Given the description of an element on the screen output the (x, y) to click on. 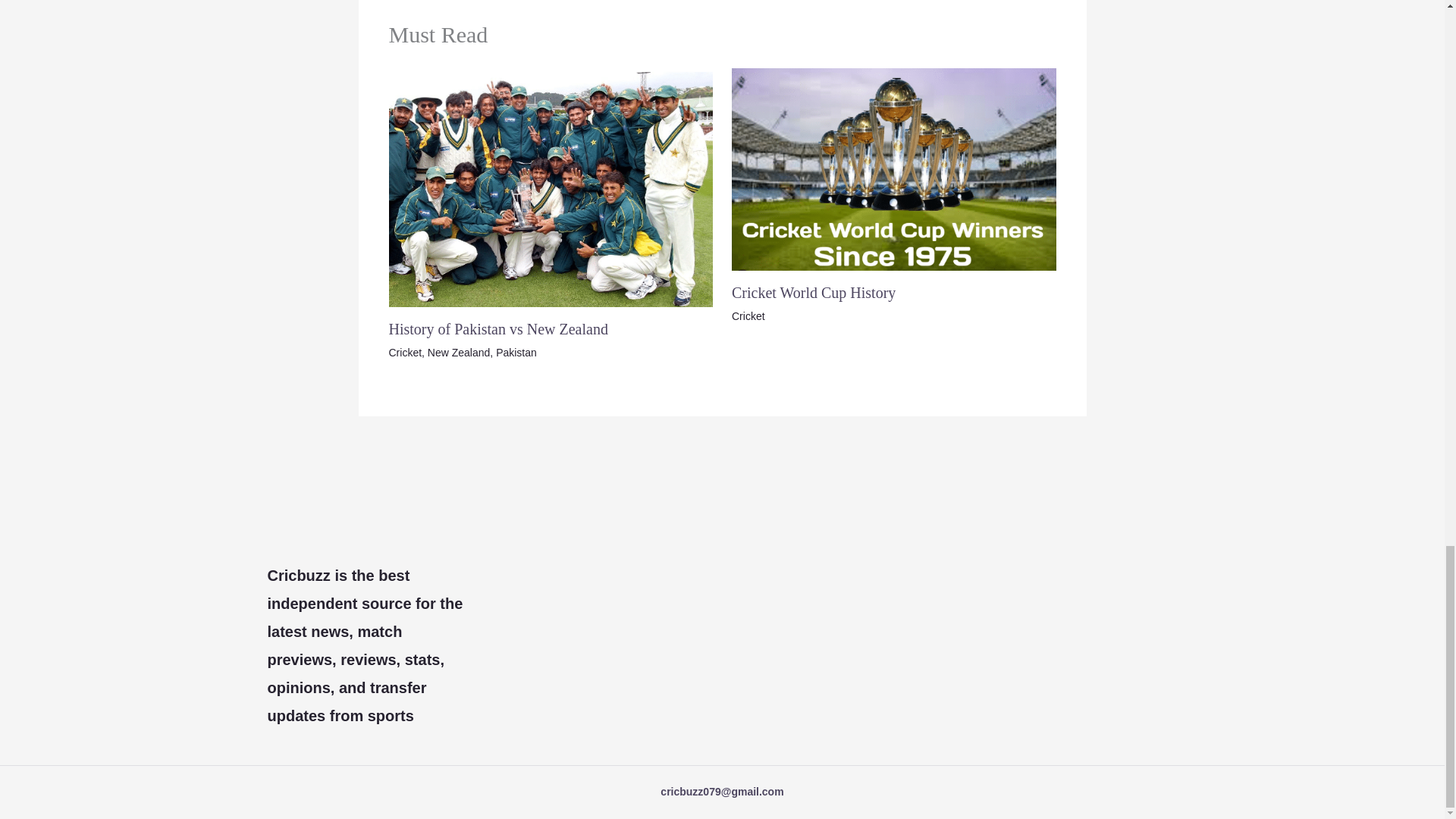
Cricket (405, 352)
Pakistan (516, 352)
History of Pakistan vs New Zealand (497, 329)
New Zealand (459, 352)
Cricket World Cup History (813, 292)
Cricket (748, 316)
